Given the description of an element on the screen output the (x, y) to click on. 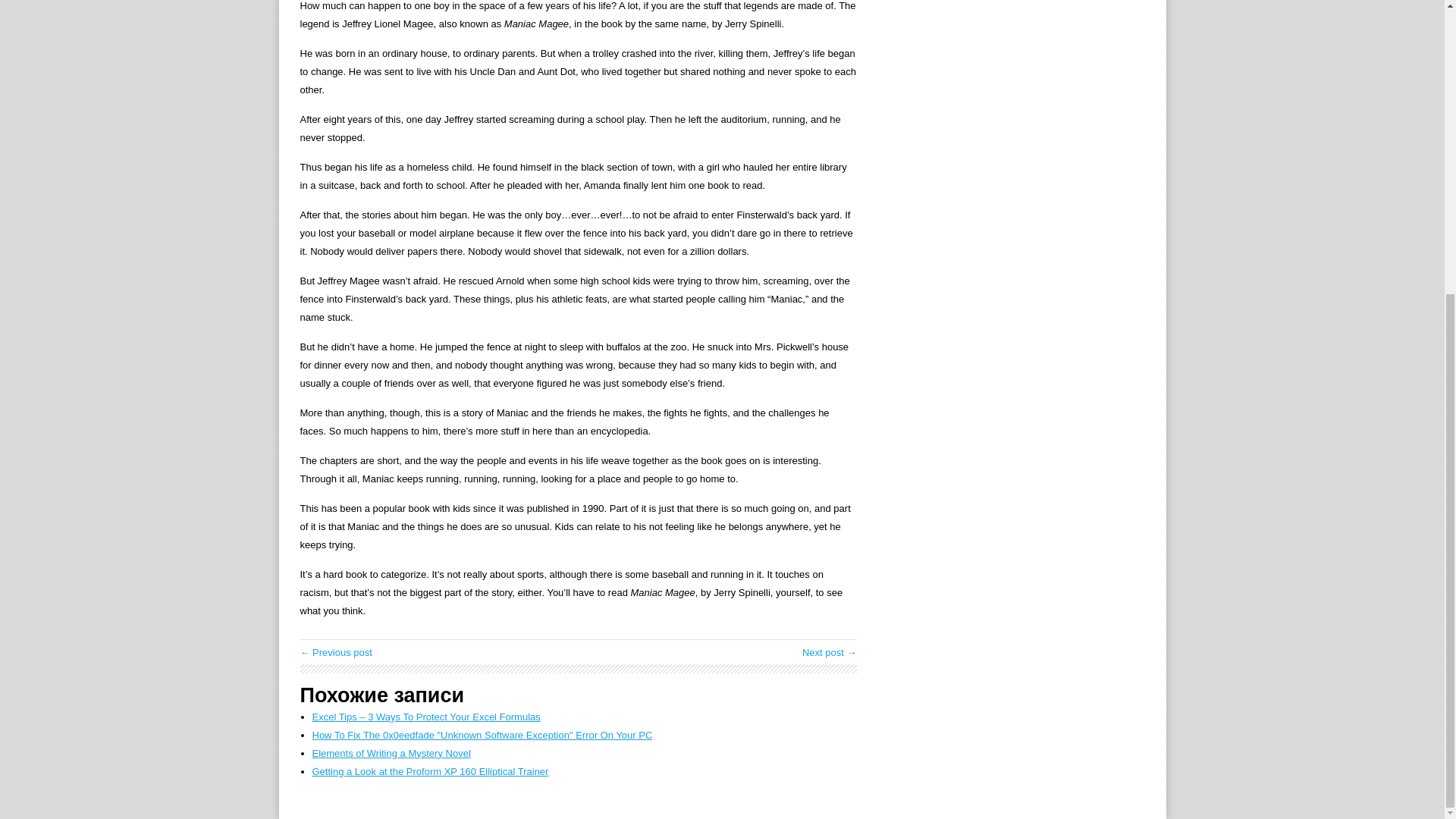
Driveway Pavers - Do it Yourself (829, 652)
Removing Stuck Screws With a Screw Extractor (335, 652)
Getting a Look at the Proform XP 160 Elliptical Trainer (430, 771)
Elements of Writing a Mystery Novel (391, 753)
